Given the description of an element on the screen output the (x, y) to click on. 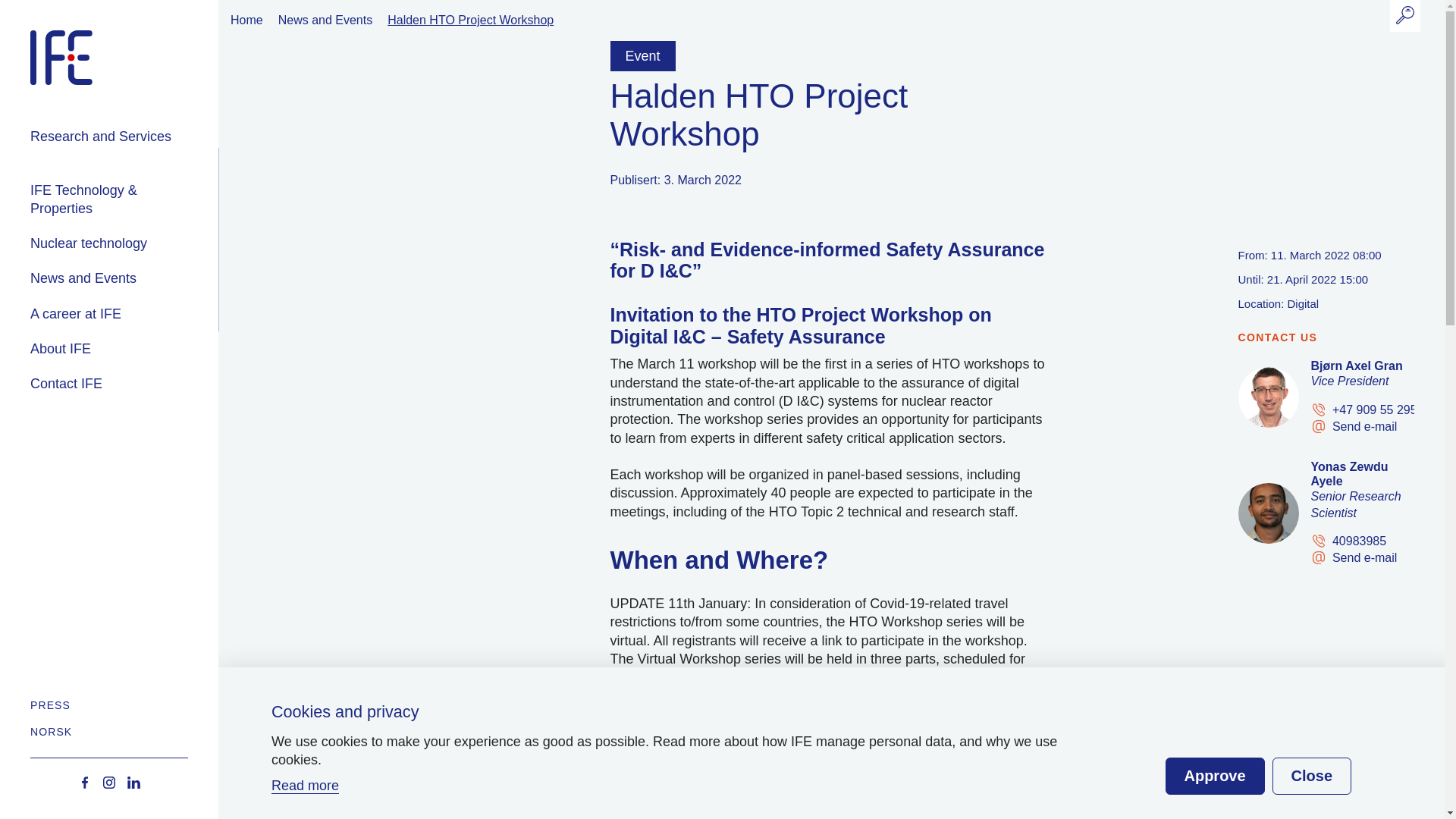
IFE Employees (153, 105)
Sustainability and ethics (153, 274)
Nuclear technology (124, 243)
IFE Board and annual reports (153, 195)
Search and find (156, 163)
About IFE (124, 348)
NORSK (124, 729)
Master thesis at IFE? (162, 285)
News and Events (124, 278)
PRESS (124, 708)
Laboratories (156, 222)
Reporting wrongdoing or concerns (158, 338)
IFE Employees (158, 243)
IFE History (153, 235)
See Vacancies (162, 193)
